Given the description of an element on the screen output the (x, y) to click on. 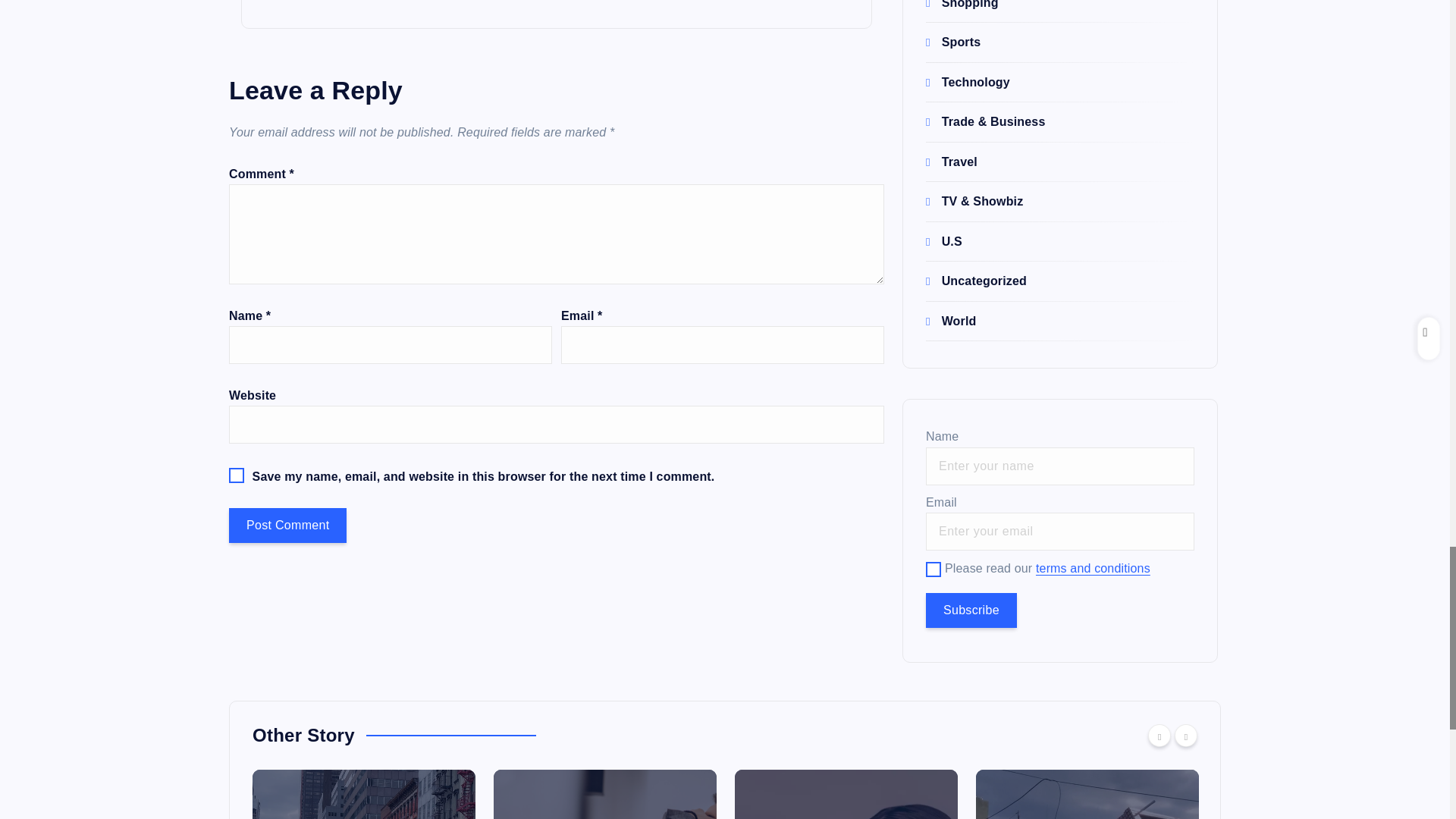
yes (236, 475)
Post Comment (287, 524)
true (933, 569)
Subscribe (971, 610)
